Given the description of an element on the screen output the (x, y) to click on. 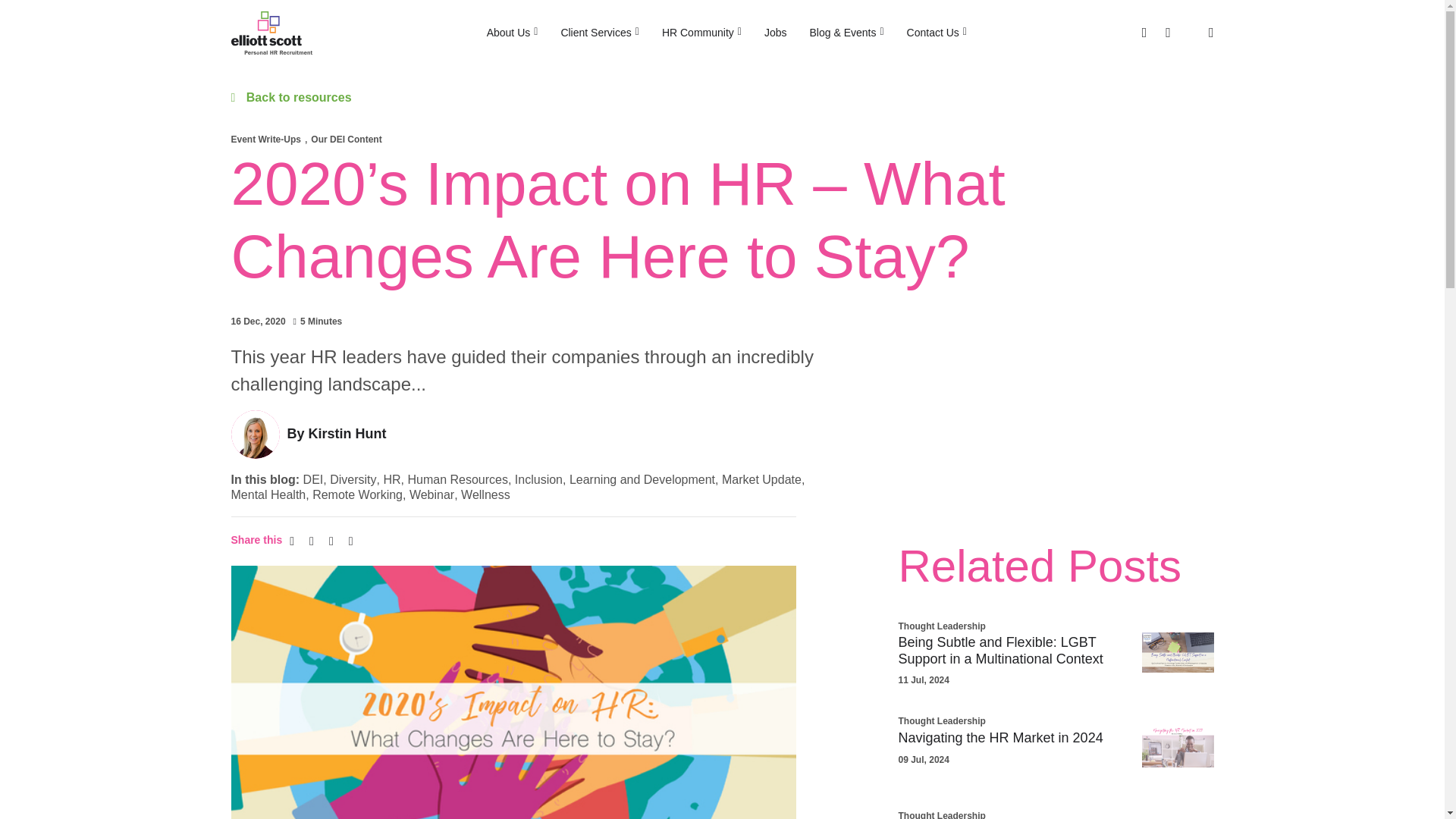
HR Community (701, 32)
Client Services (599, 32)
Contact Us (936, 32)
Jobs (774, 32)
About Us (513, 32)
